Given the description of an element on the screen output the (x, y) to click on. 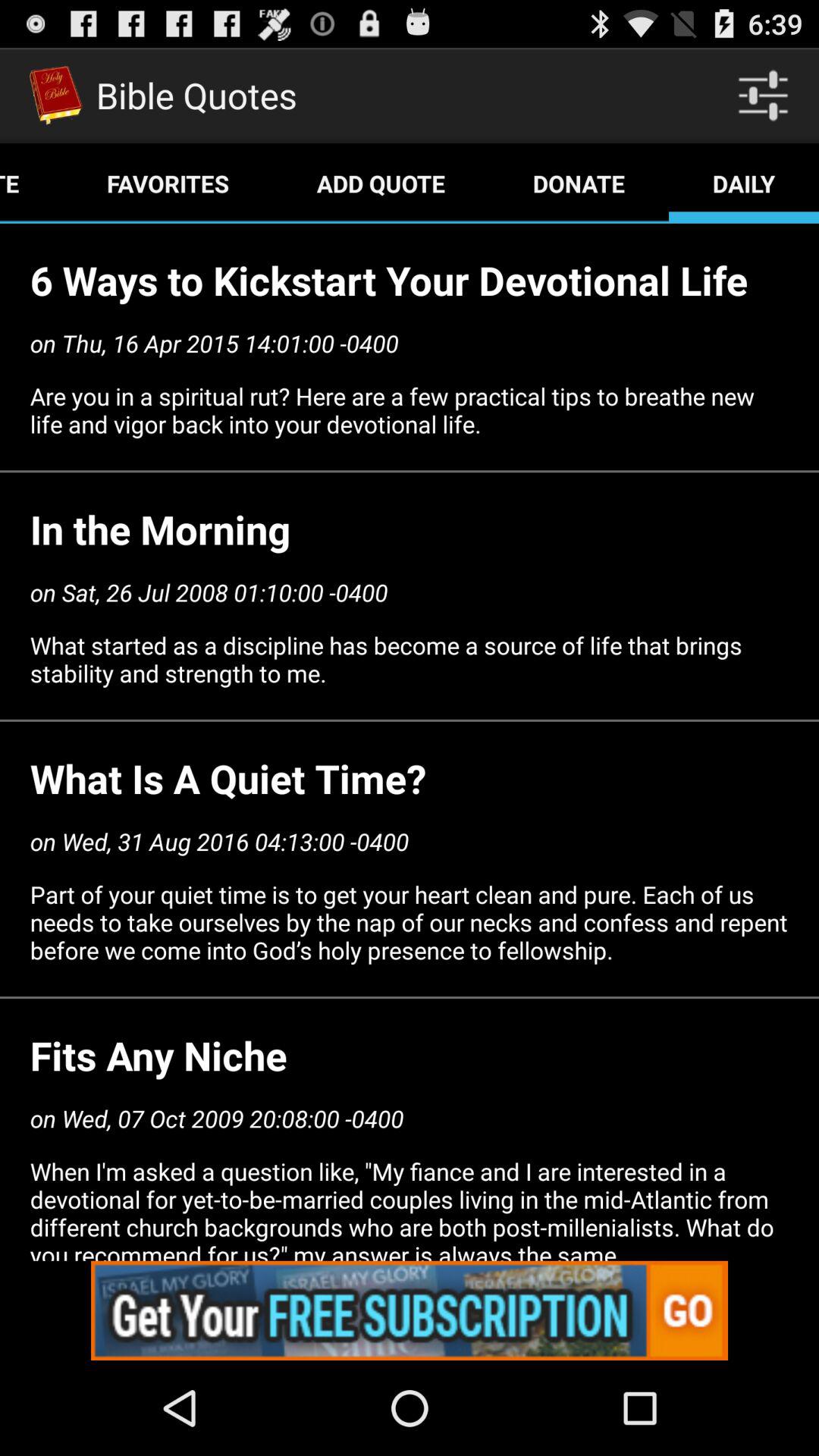
click advertisements (409, 1310)
